Given the description of an element on the screen output the (x, y) to click on. 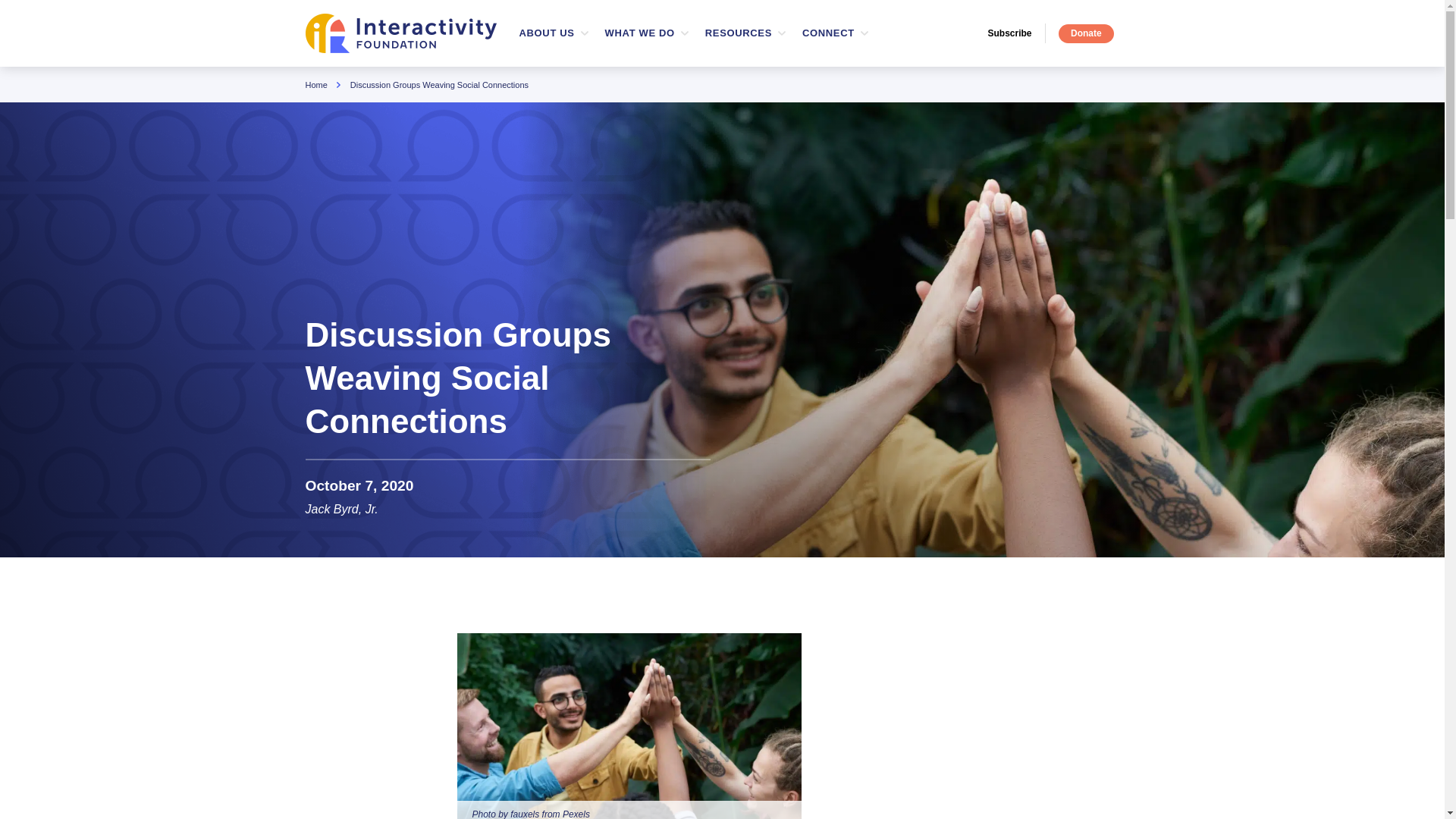
Subscribe (1016, 33)
CONNECT (828, 33)
Donate (1086, 33)
ABOUT US (545, 33)
Go to Interactivity Foundation. (722, 33)
WHAT WE DO (315, 84)
RESOURCES (640, 33)
